Given the description of an element on the screen output the (x, y) to click on. 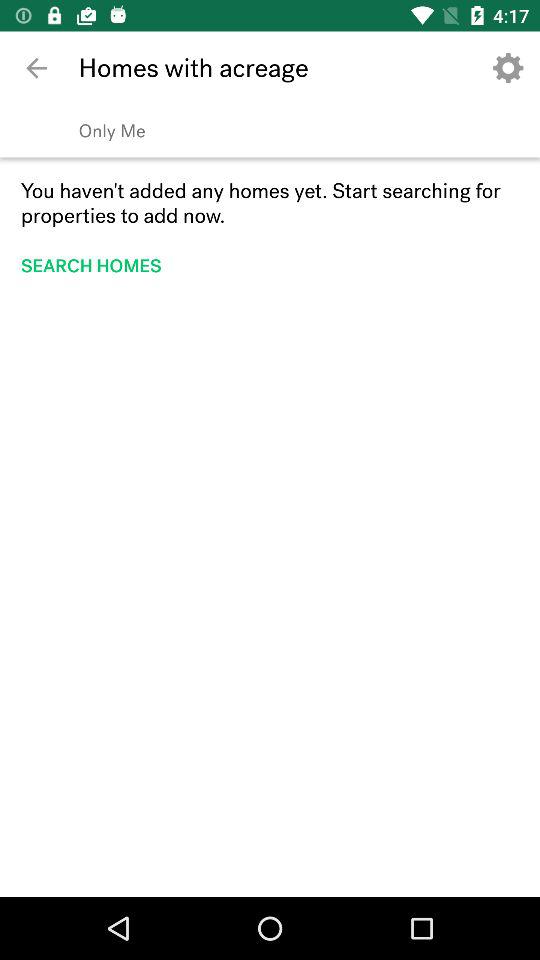
press item to the right of the homes with acreage icon (508, 67)
